Given the description of an element on the screen output the (x, y) to click on. 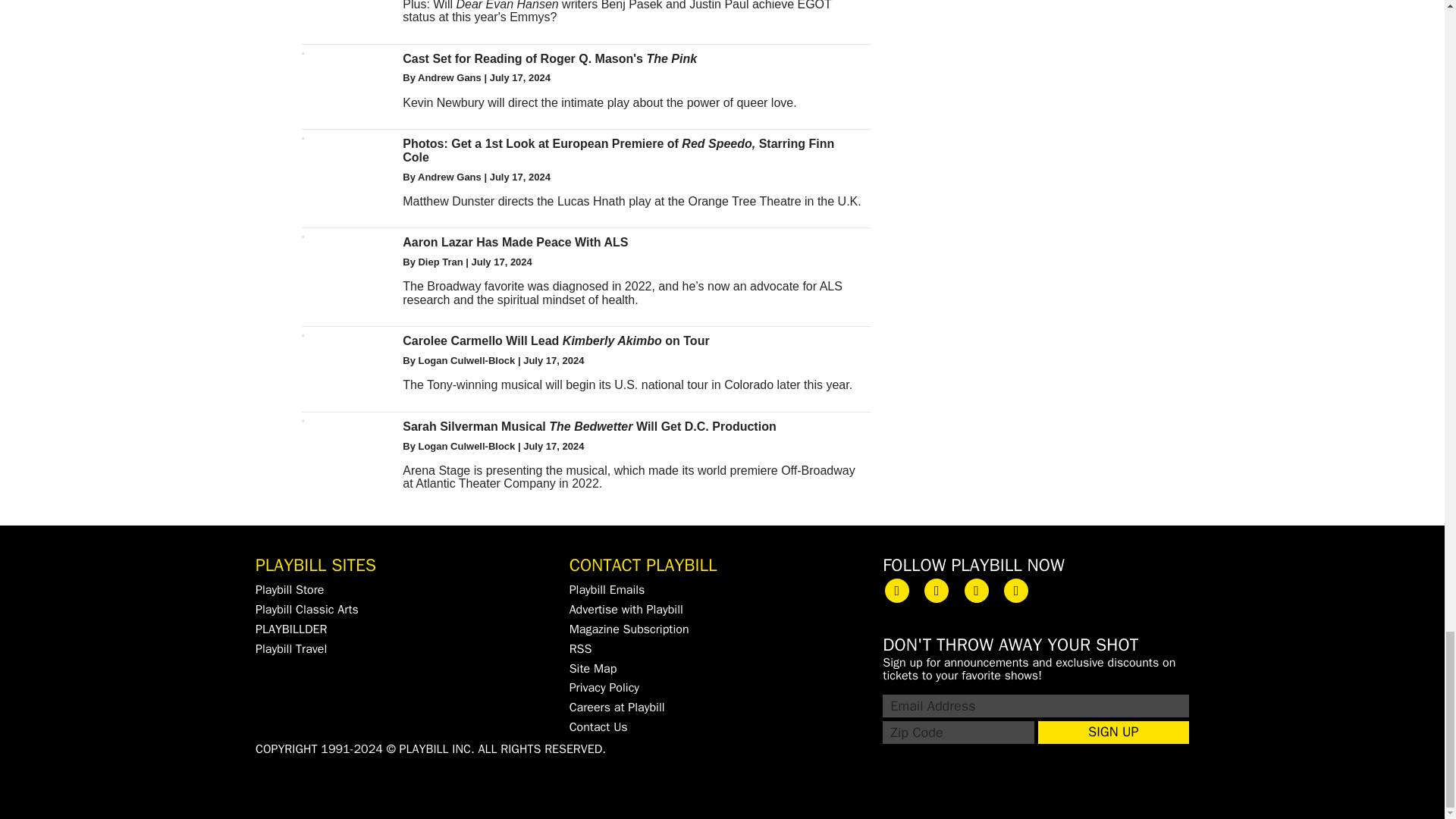
Sign Up (1113, 732)
